Given the description of an element on the screen output the (x, y) to click on. 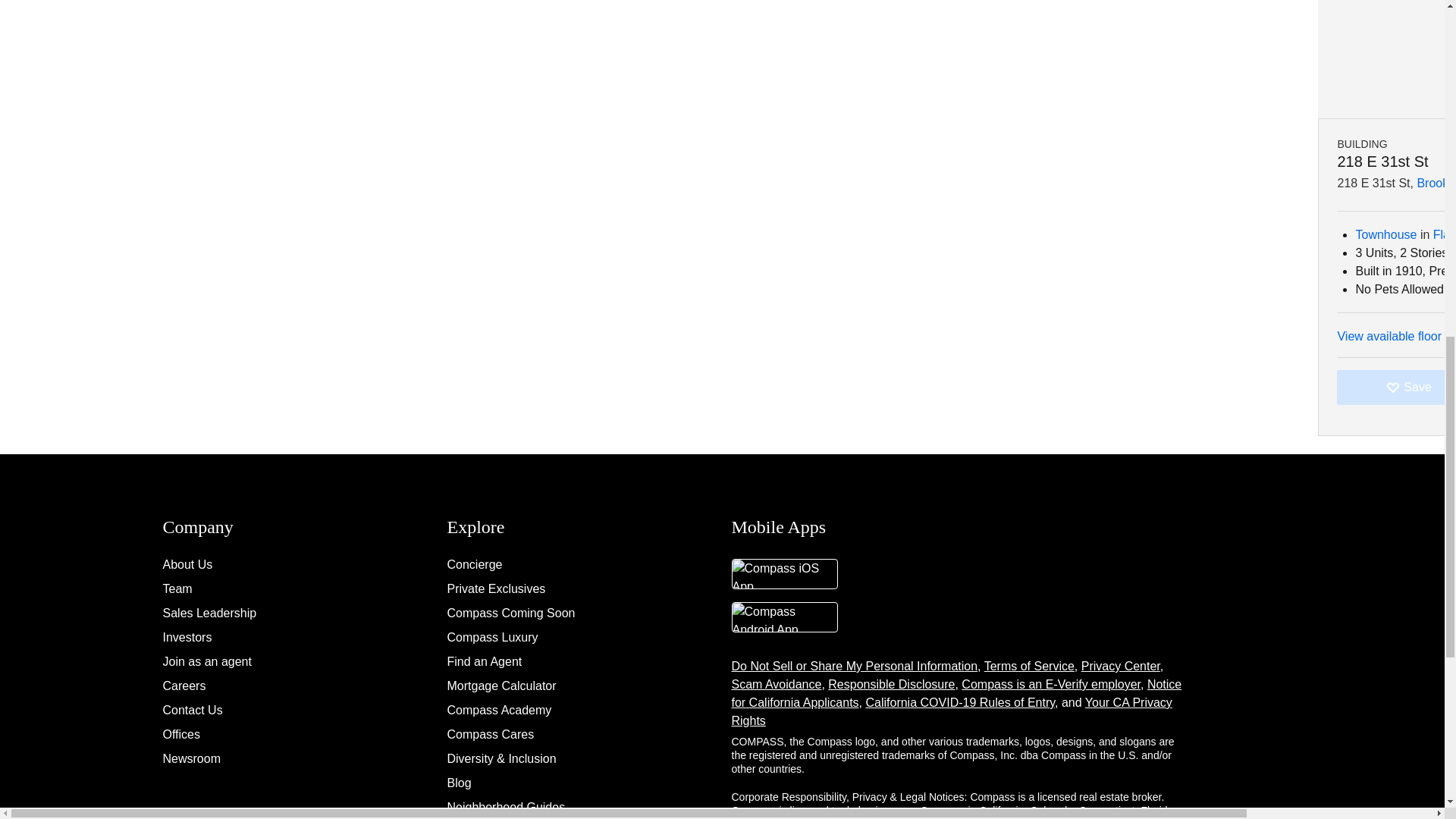
Brooklyn, NY 11226 (1436, 1)
Flatbush (1444, 47)
View available floor plans (1396, 149)
Save (1396, 201)
Townhouse (1385, 47)
